Given the description of an element on the screen output the (x, y) to click on. 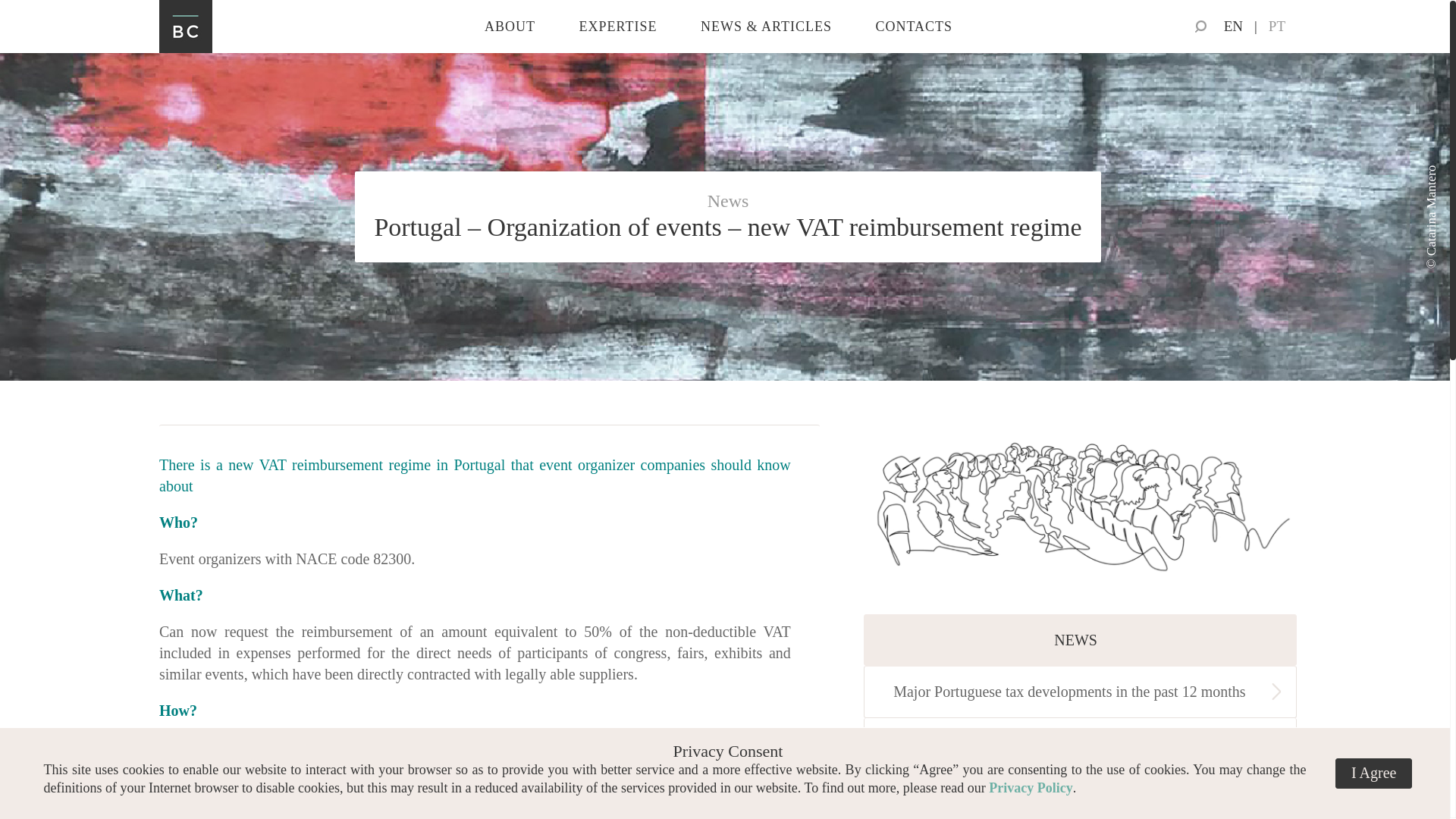
ABOUT (510, 26)
CONTACTS (913, 26)
EXPERTISE (618, 26)
